Given the description of an element on the screen output the (x, y) to click on. 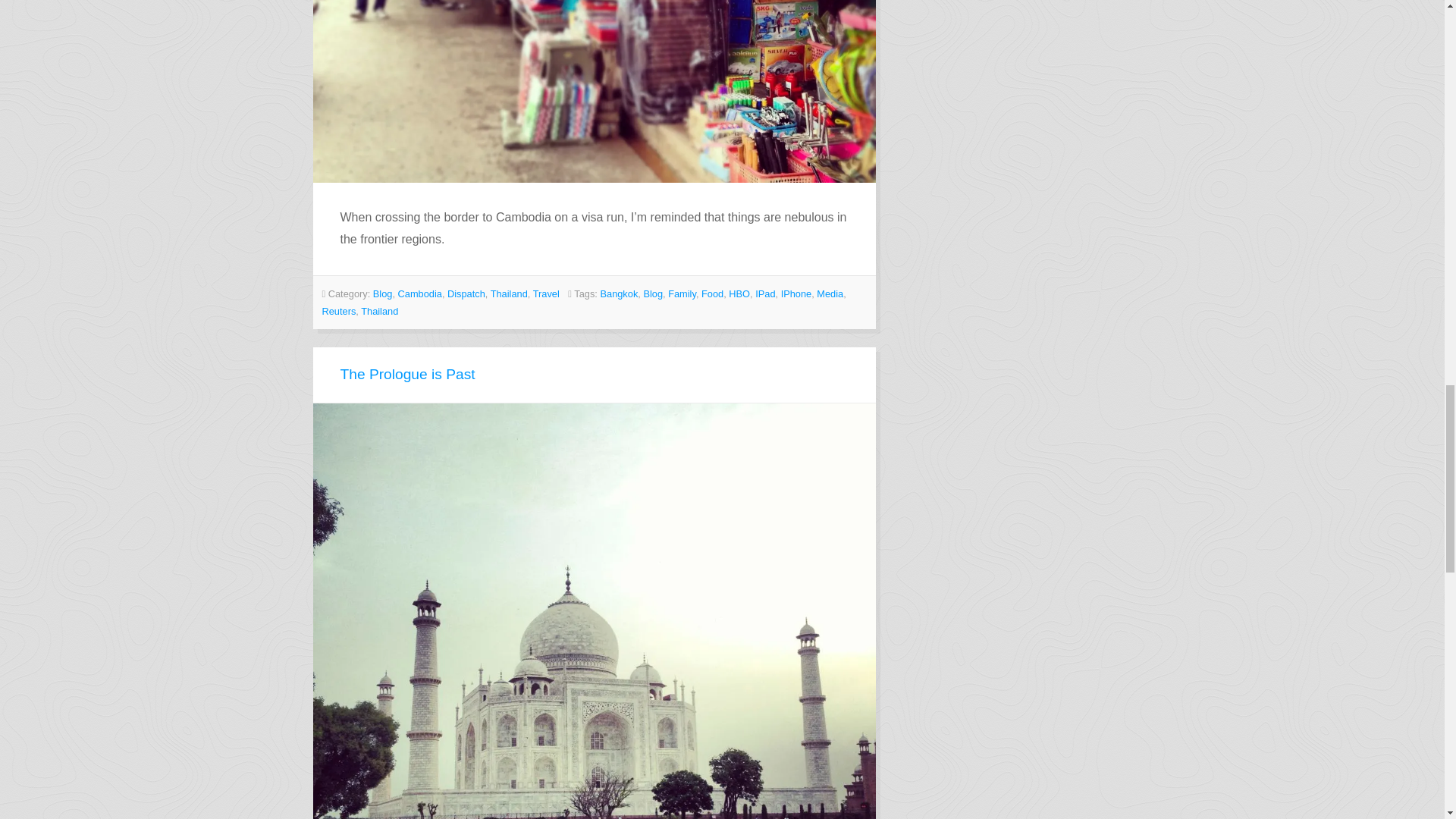
Permalink to Crossing to Cambodia (594, 91)
The Prologue is Past (406, 374)
